Given the description of an element on the screen output the (x, y) to click on. 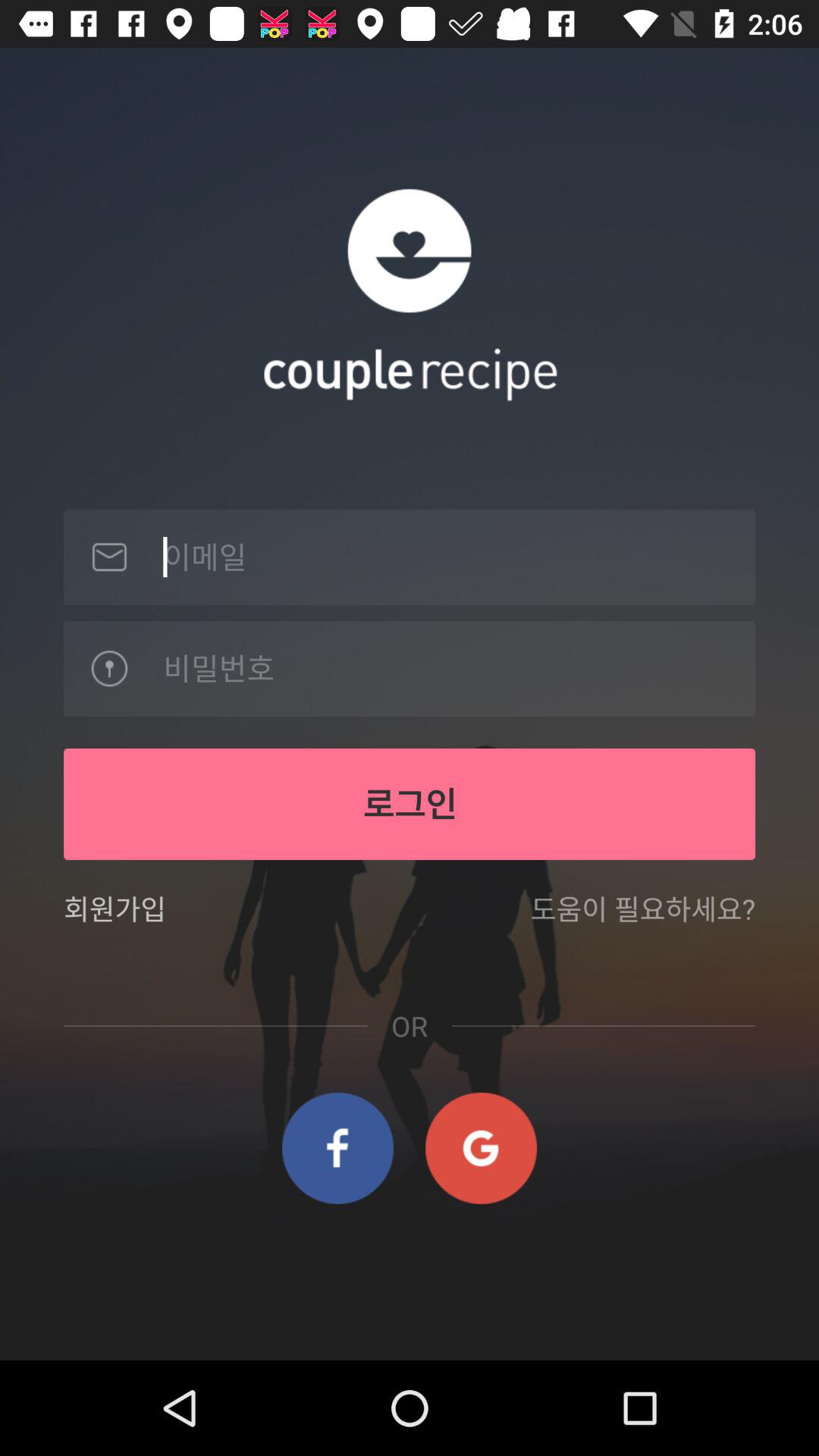
tap item on the left (114, 918)
